Given the description of an element on the screen output the (x, y) to click on. 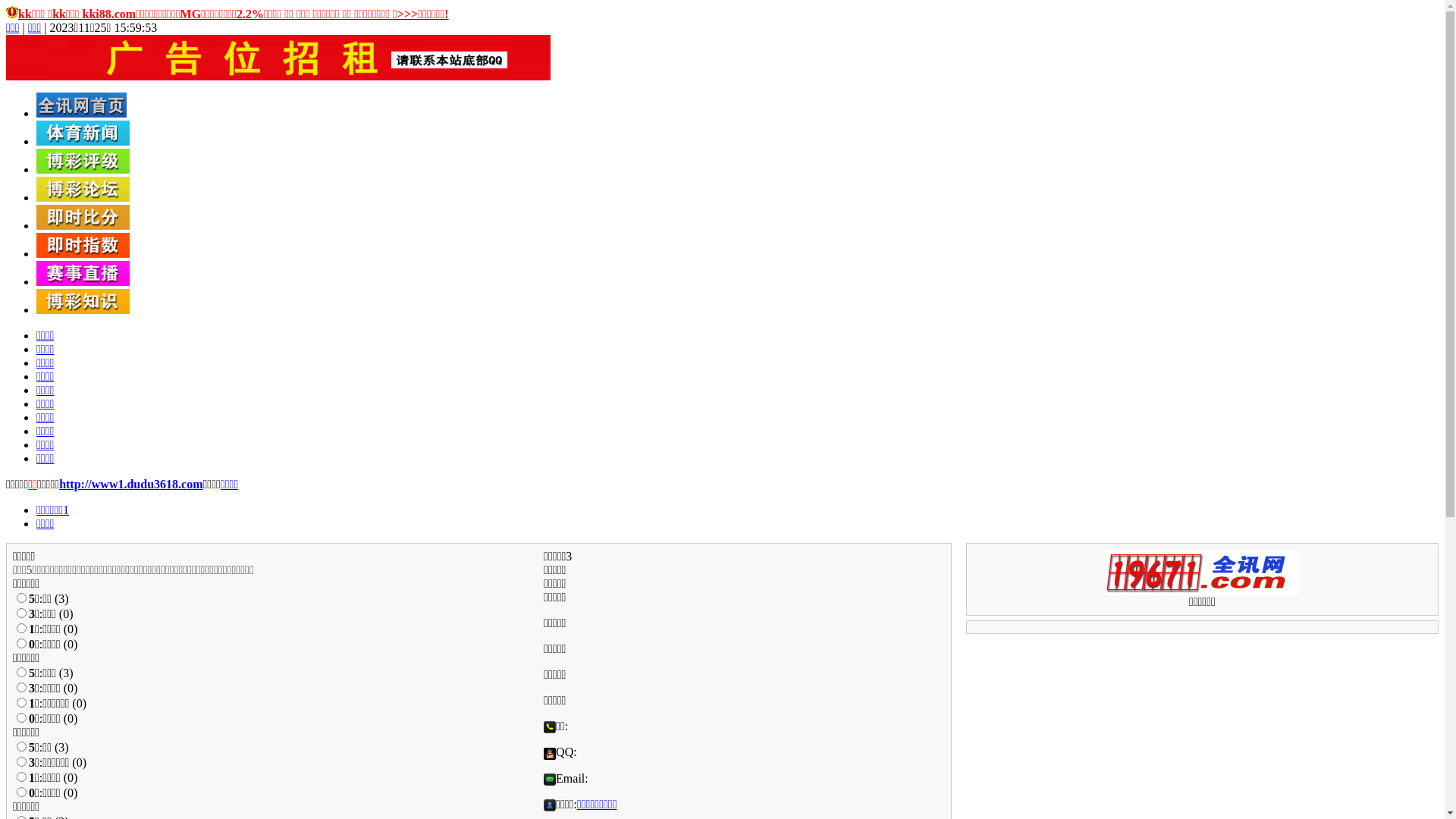
2 Element type: text (21, 613)
3 Element type: text (21, 702)
4 Element type: text (21, 717)
1 Element type: text (21, 746)
2 Element type: text (21, 687)
4 Element type: text (21, 792)
http://www1.dudu3618.com Element type: text (130, 483)
1 Element type: text (21, 597)
3 Element type: text (21, 776)
4 Element type: text (21, 643)
1 Element type: text (21, 672)
3 Element type: text (21, 628)
2 Element type: text (21, 761)
